Given the description of an element on the screen output the (x, y) to click on. 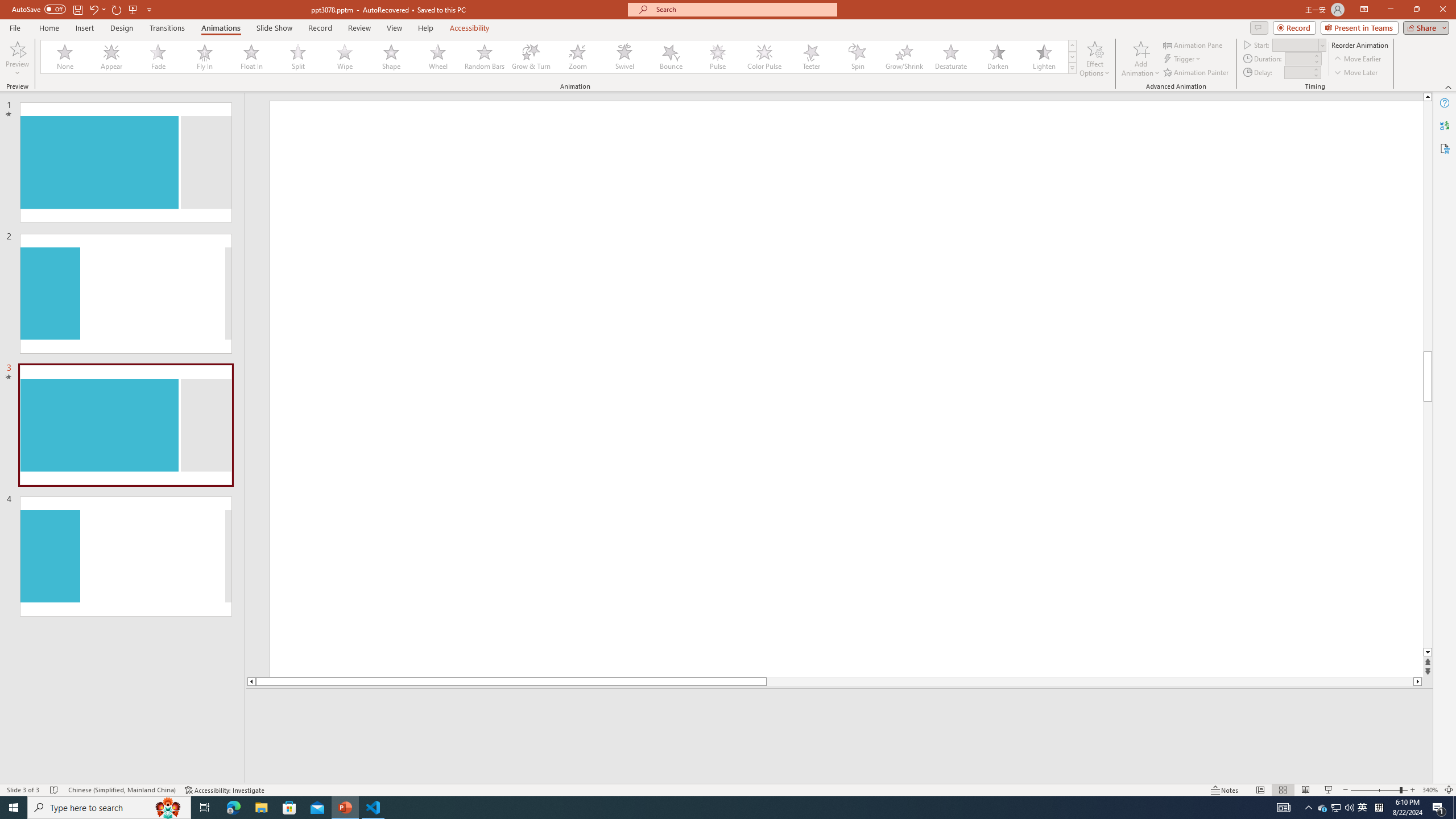
Lighten (1043, 56)
Grow & Turn (531, 56)
Darken (997, 56)
Shape (391, 56)
Animation Delay (1297, 72)
